Given the description of an element on the screen output the (x, y) to click on. 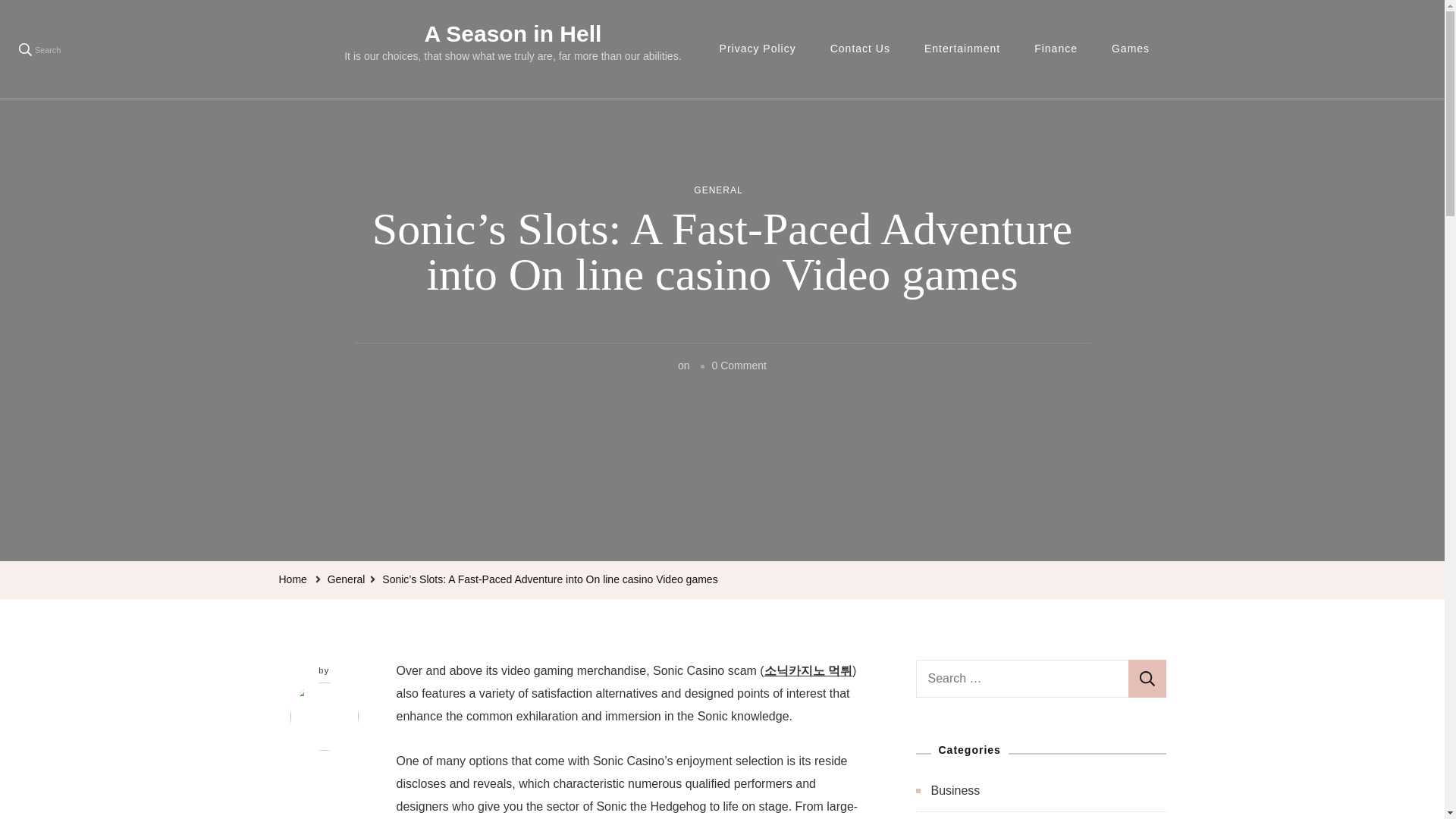
General (346, 579)
Games (1130, 49)
Search (1147, 678)
Search (39, 48)
GENERAL (718, 191)
Privacy Policy (757, 49)
Contact Us (860, 49)
Search (1147, 678)
Finance (1056, 49)
A Season in Hell (512, 33)
